Given the description of an element on the screen output the (x, y) to click on. 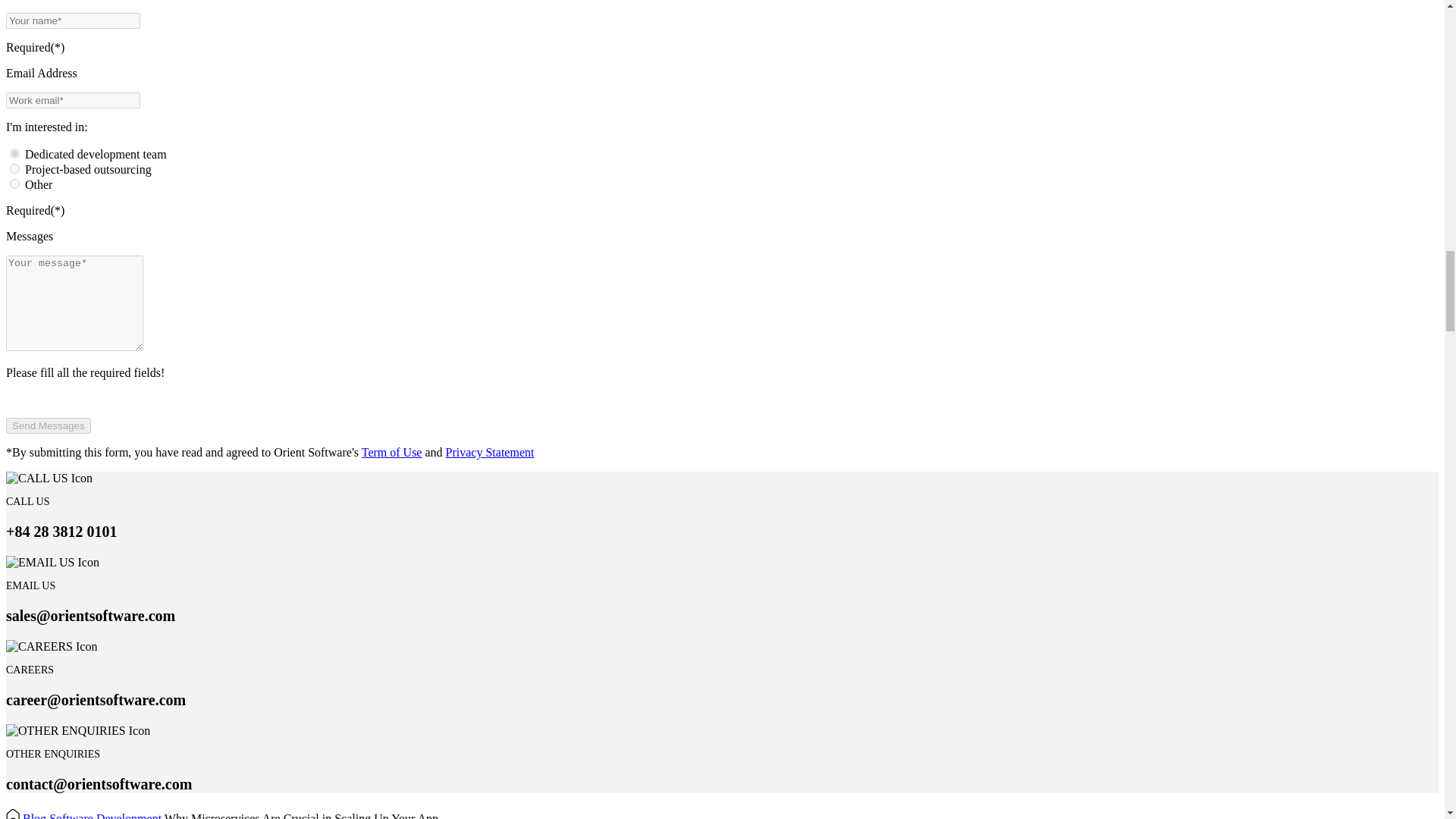
Project-based outsourcing (15, 168)
Other (15, 184)
Dedicated development team (15, 153)
